Given the description of an element on the screen output the (x, y) to click on. 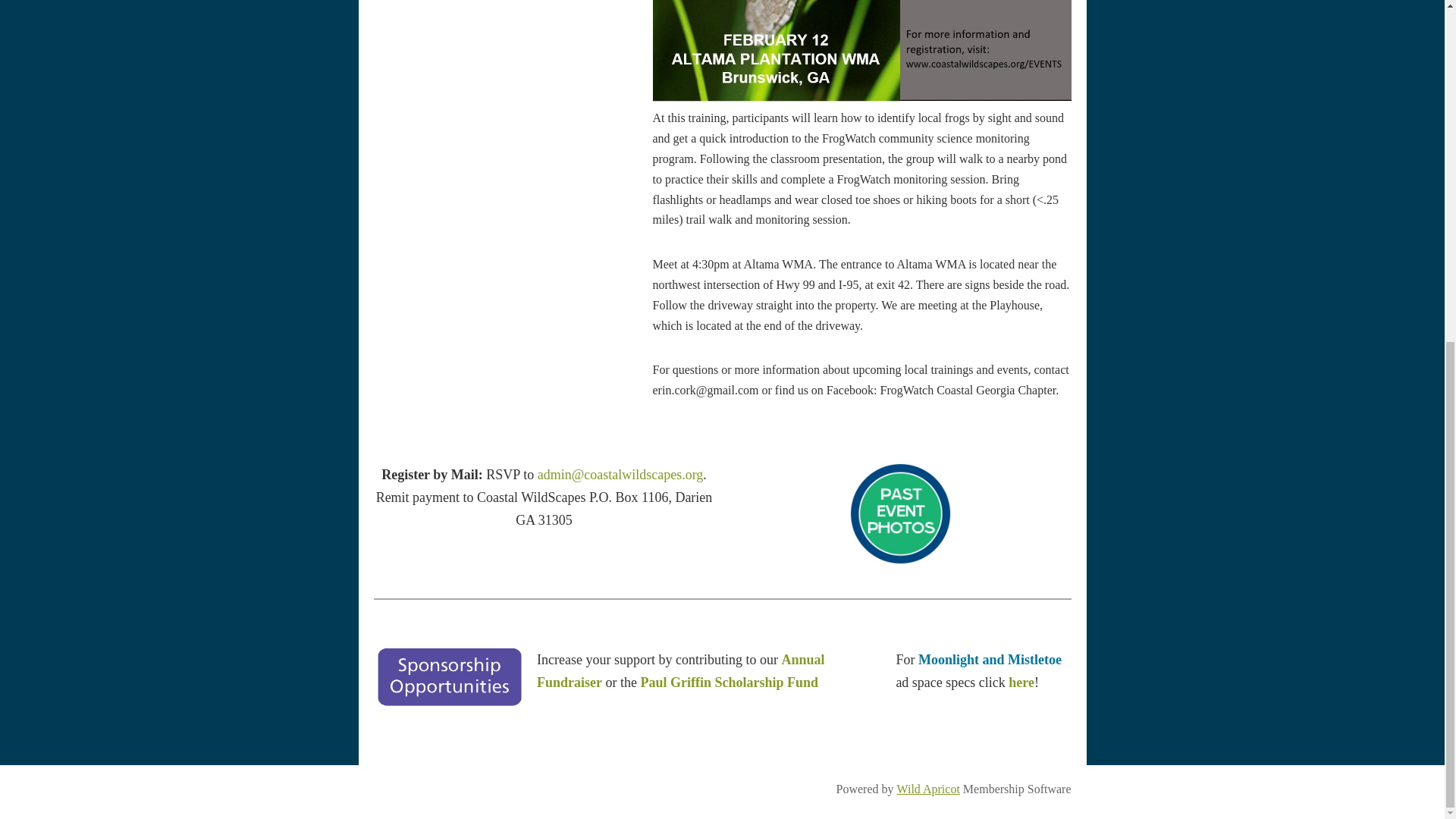
Wild Apricot (927, 788)
Paul Griffin Scholarship Fund (729, 682)
Annual Fundraiser (680, 670)
here (1021, 682)
